Given the description of an element on the screen output the (x, y) to click on. 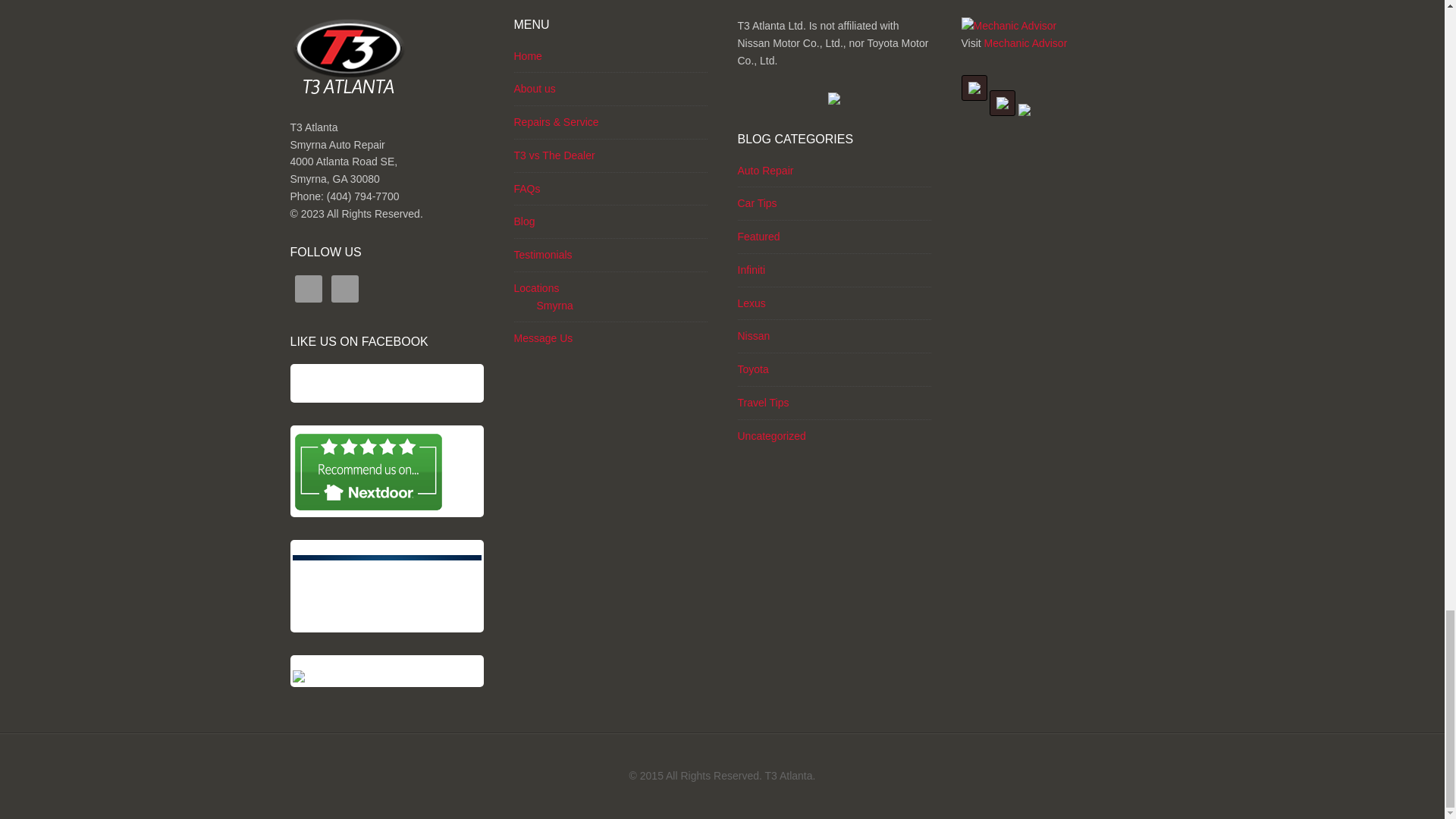
Testimonials (542, 254)
About us (534, 88)
FAQs (526, 188)
Car Tips (756, 203)
Auto Repair (764, 170)
Locations (536, 287)
Featured (757, 236)
Blog (524, 221)
Lexus (750, 303)
Message Us (543, 337)
Smyrna (555, 305)
T3 vs The Dealer (554, 155)
Home (527, 55)
Infiniti (750, 269)
